Given the description of an element on the screen output the (x, y) to click on. 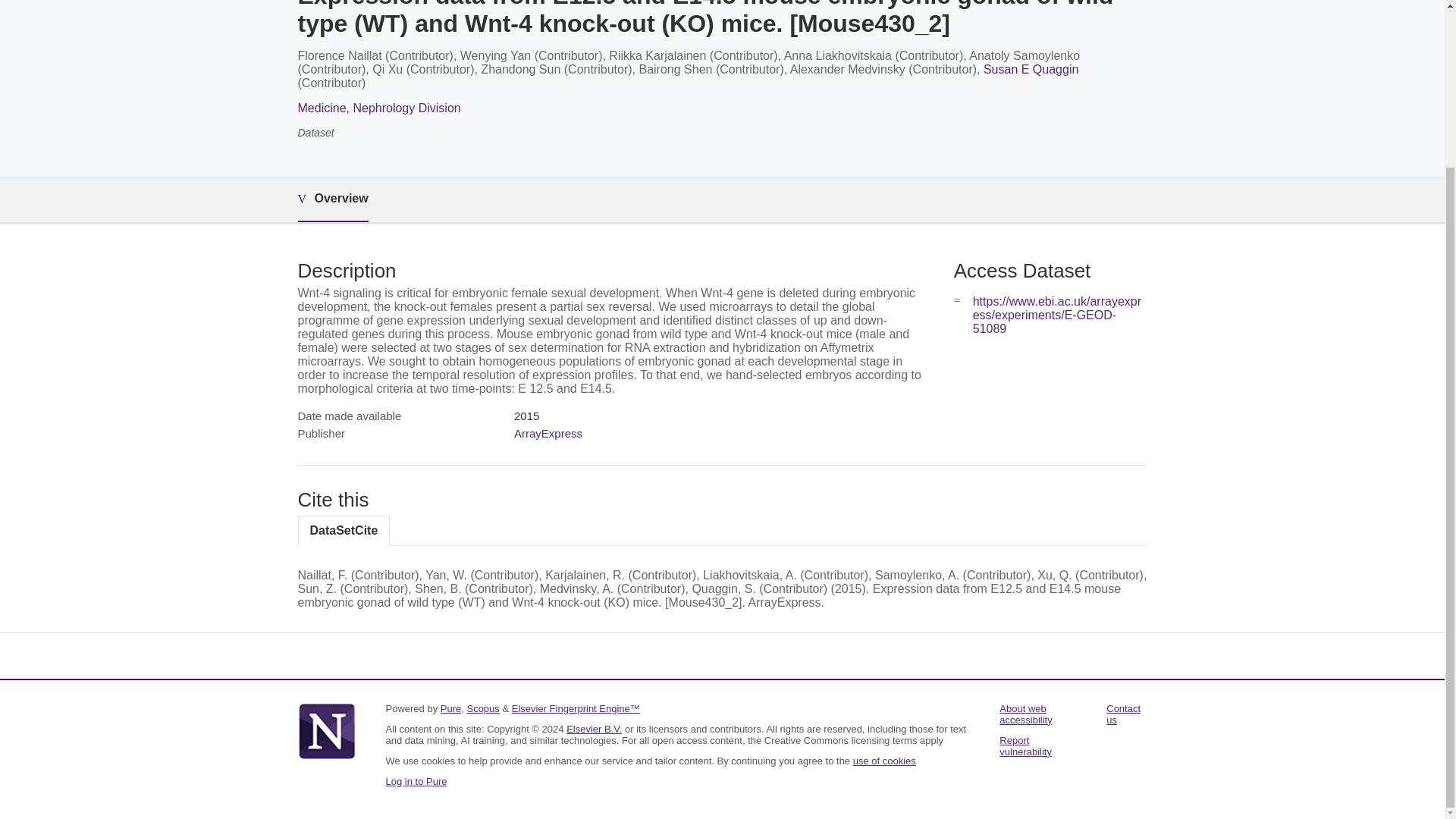
use of cookies (884, 760)
ArrayExpress (547, 432)
Log in to Pure (415, 781)
Report vulnerability (1024, 745)
Scopus (482, 708)
Contact us (1123, 713)
Susan E Quaggin (1031, 69)
Pure (451, 708)
Elsevier B.V. (593, 728)
Overview (332, 199)
